Given the description of an element on the screen output the (x, y) to click on. 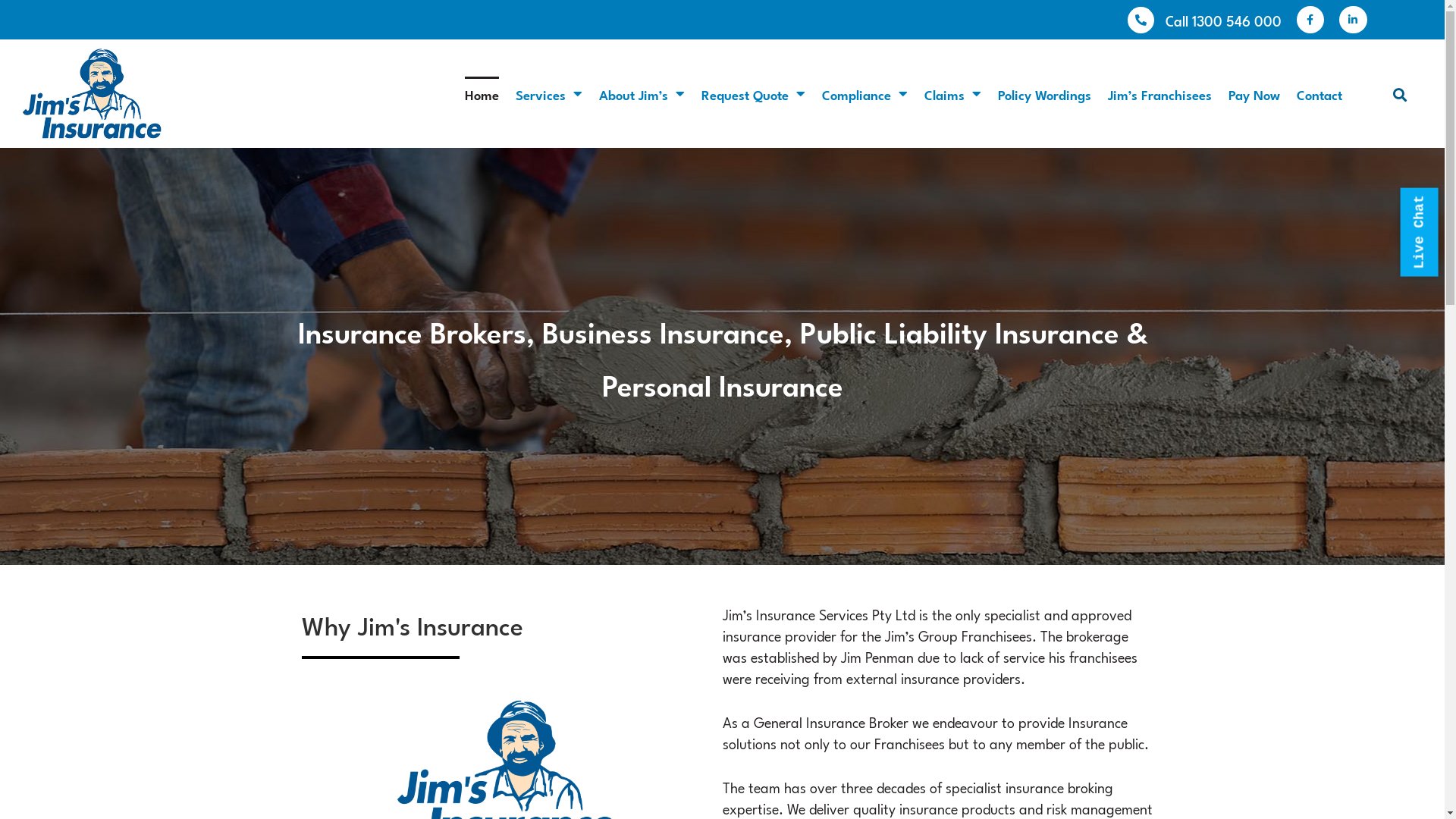
Pay Now Element type: text (1254, 93)
Request Quote Element type: text (753, 93)
Home Element type: text (481, 93)
Compliance Element type: text (864, 93)
Policy Wordings Element type: text (1044, 93)
Contact Element type: text (1319, 93)
Why Jim's Insurance Element type: text (498, 624)
Claims Element type: text (952, 93)
Call 1300 546 000 Element type: text (1223, 19)
Services Element type: text (548, 93)
